Given the description of an element on the screen output the (x, y) to click on. 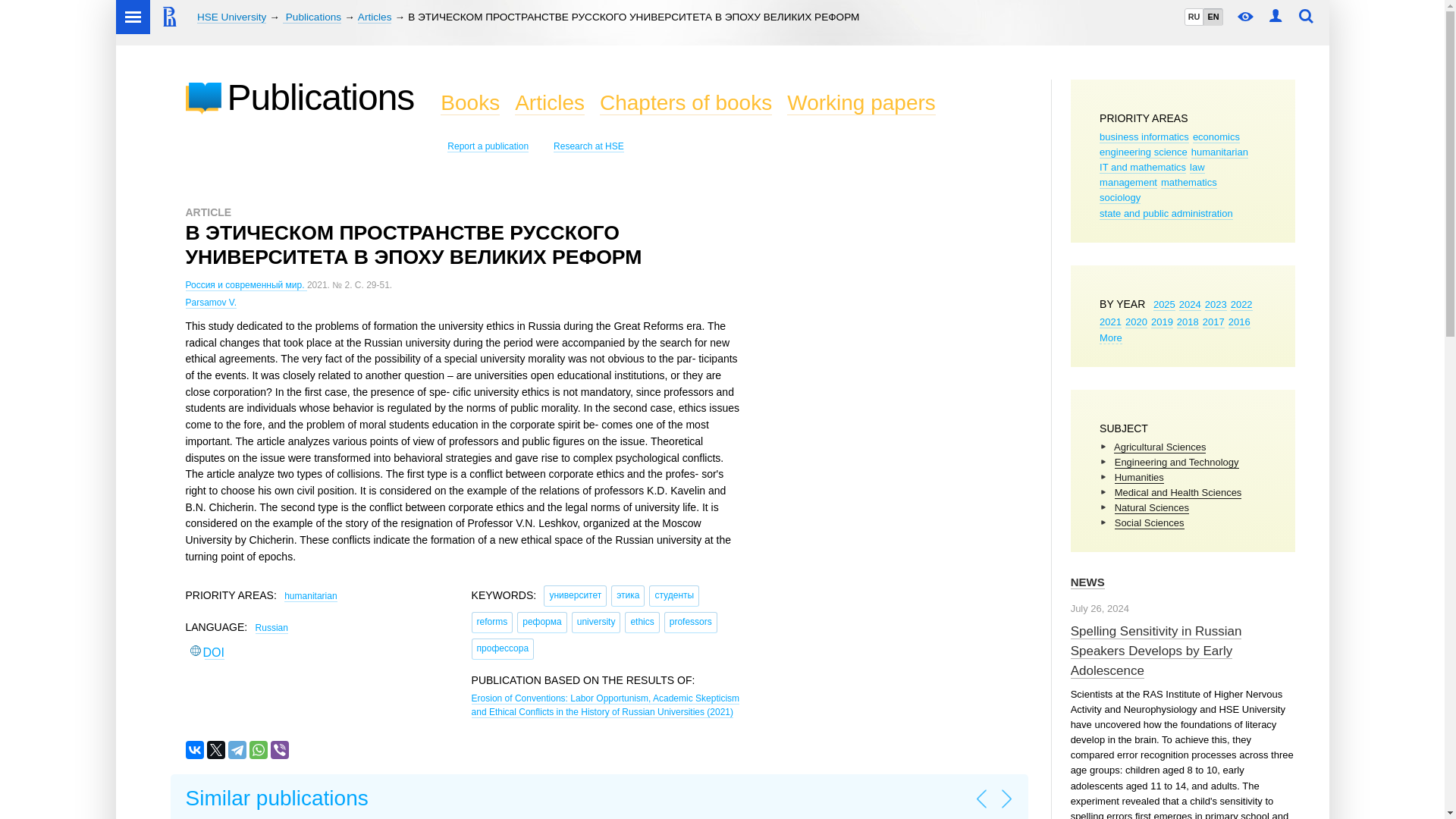
2016 (1239, 322)
economics (1216, 137)
2022 (1241, 304)
sociology (1119, 197)
Articles (374, 17)
2025 (1163, 304)
state and public administration (1166, 214)
humanitarian (1219, 152)
HSE University (231, 17)
business informatics (1144, 137)
2023 (1216, 304)
EN (1212, 17)
For visually-impaired (1245, 17)
mathematics (1188, 182)
RU (1194, 17)
